Given the description of an element on the screen output the (x, y) to click on. 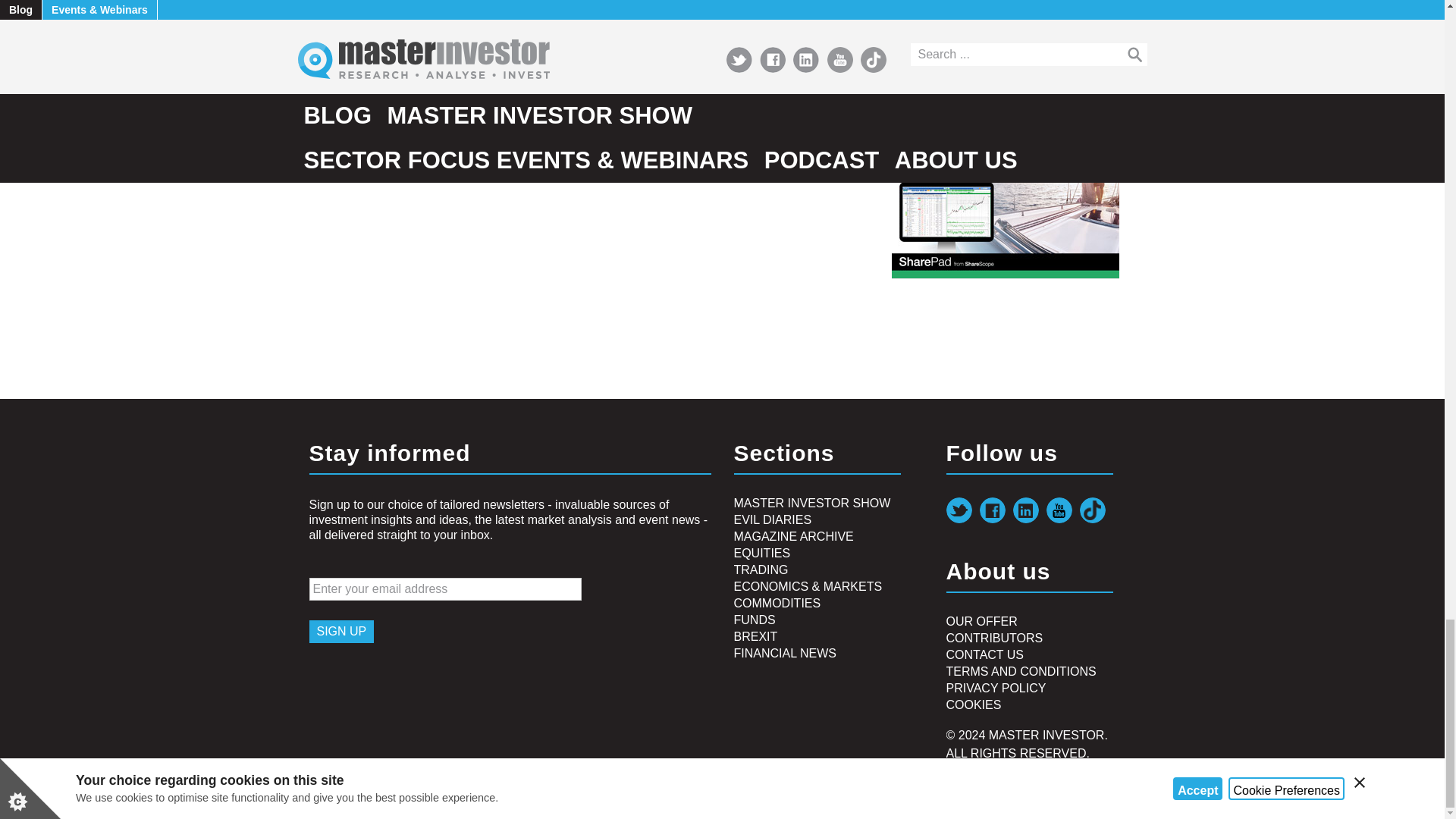
Sign up (341, 630)
